Given the description of an element on the screen output the (x, y) to click on. 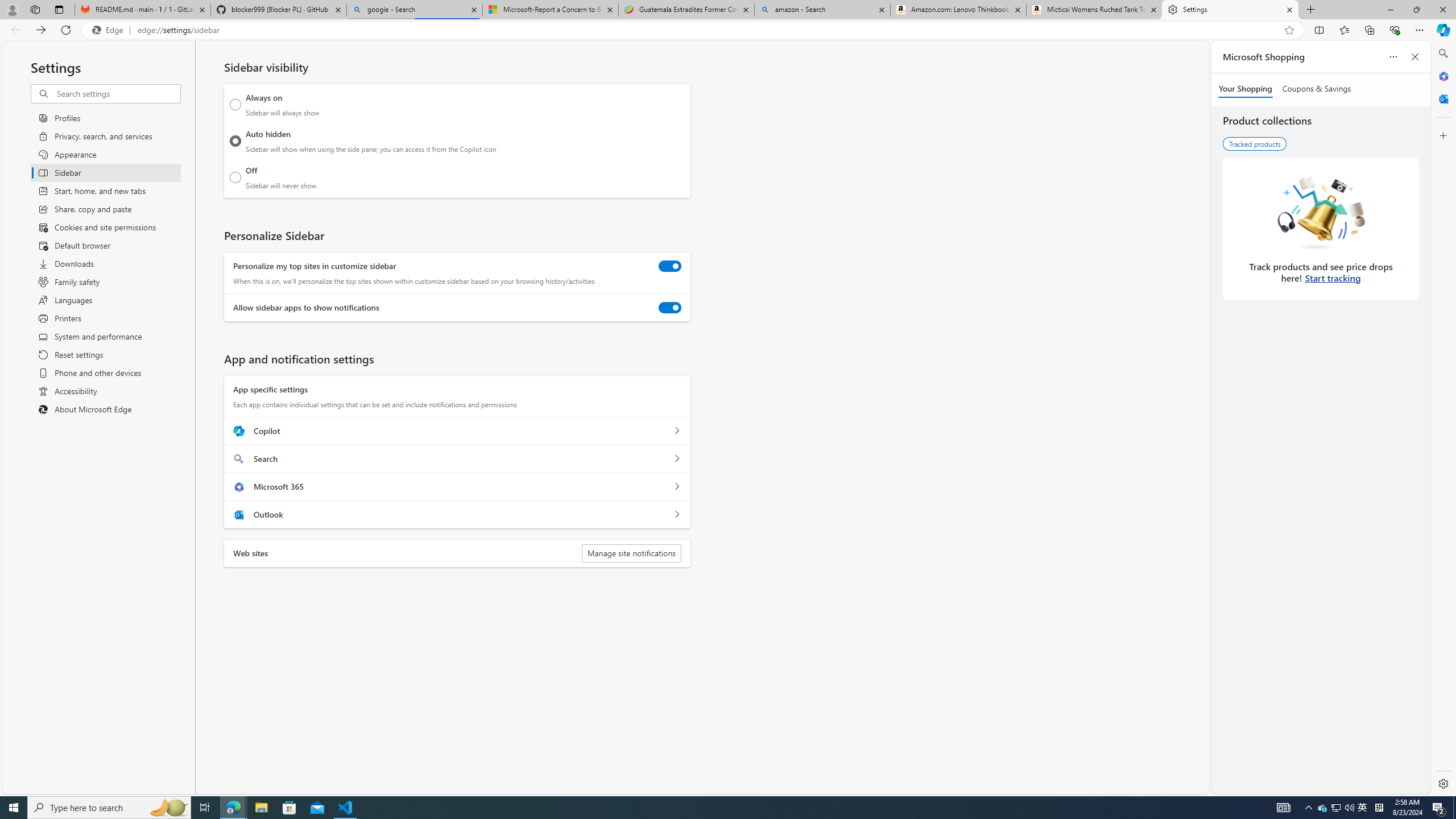
Search settings (117, 93)
Personalize my top sites in customize sidebar (669, 265)
Allow sidebar apps to show notifications (669, 307)
